Given the description of an element on the screen output the (x, y) to click on. 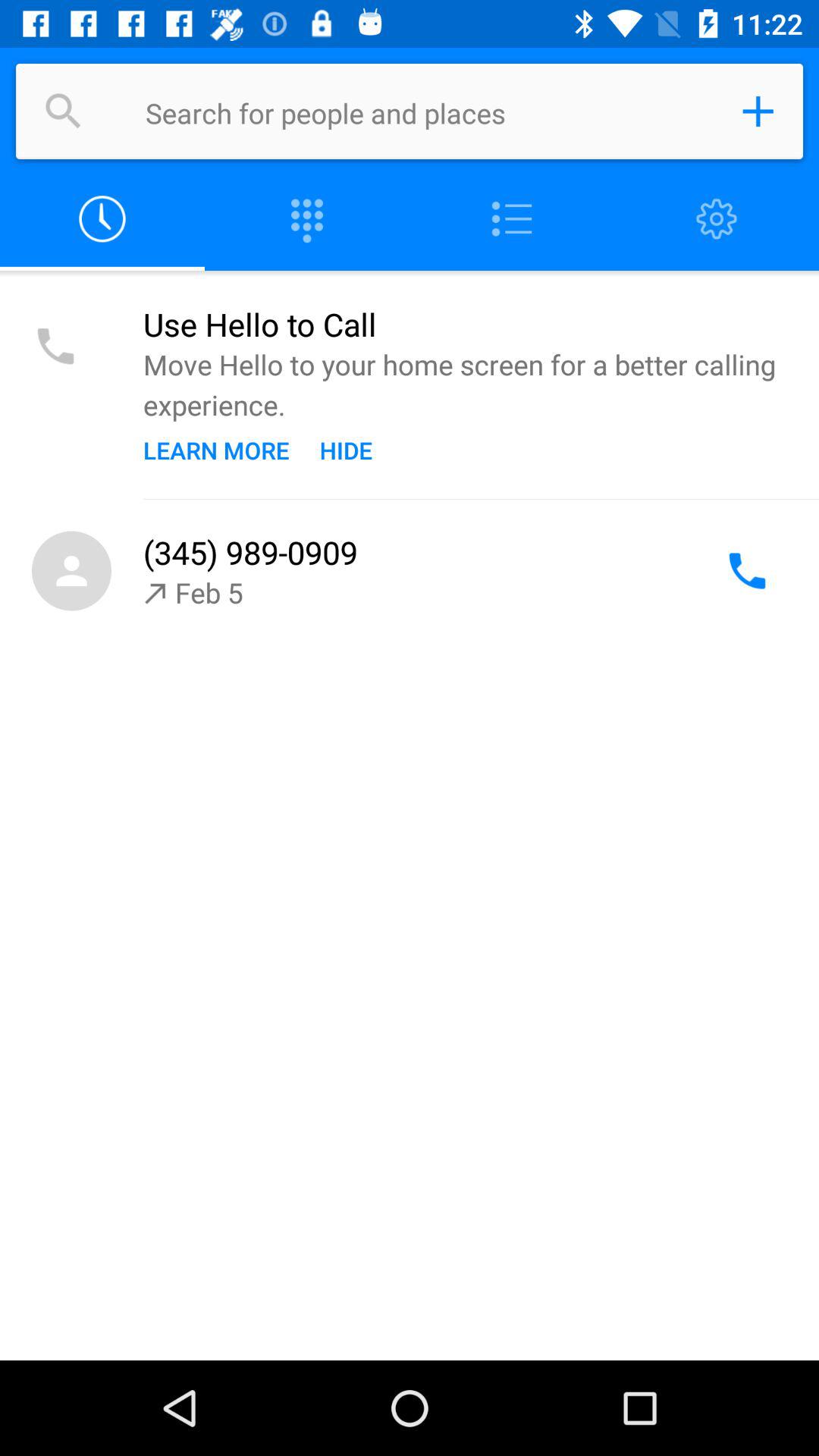
add a contact (757, 111)
